Given the description of an element on the screen output the (x, y) to click on. 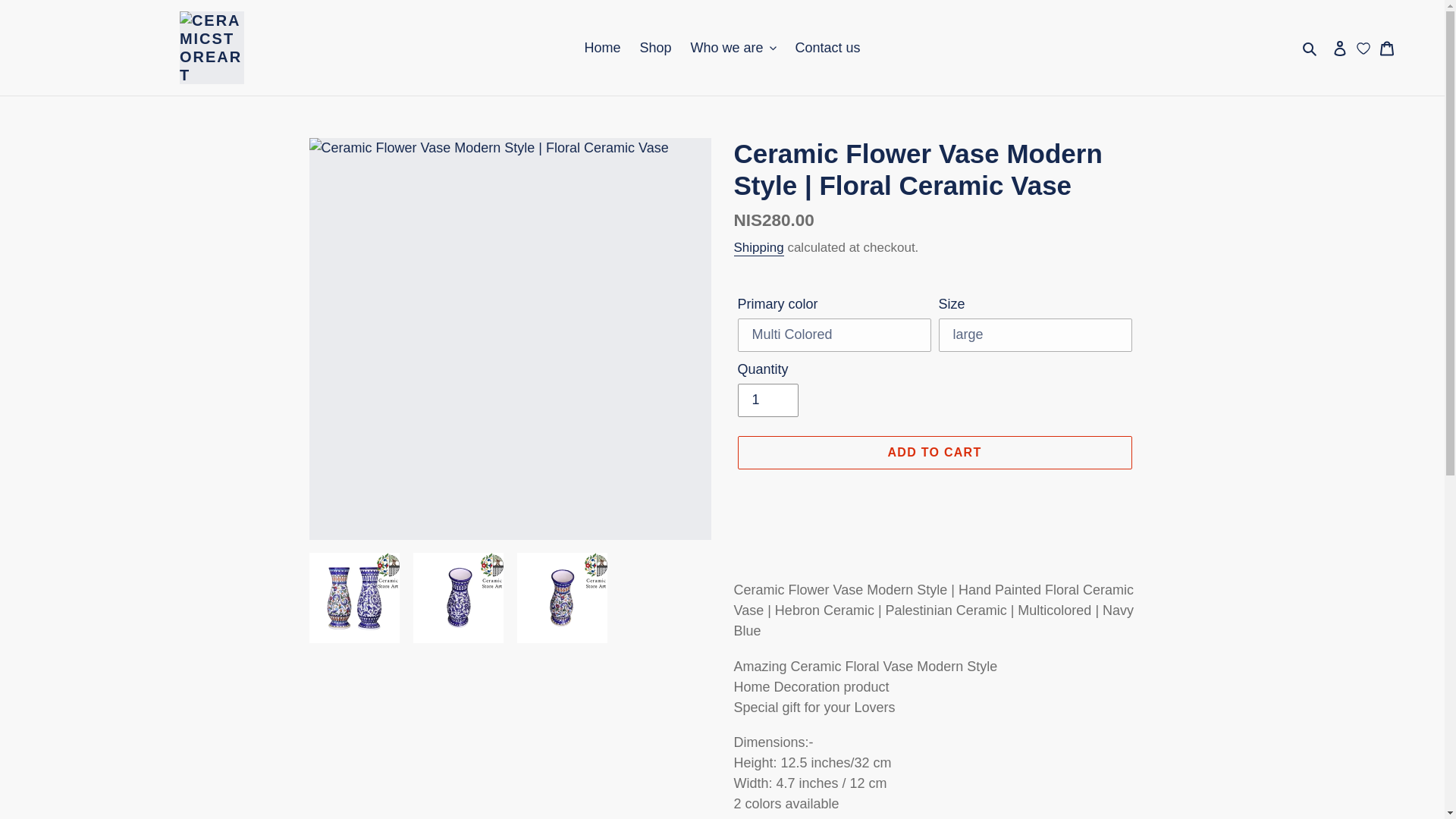
ADD TO CART (933, 452)
Contact us (827, 47)
Cart (1387, 48)
Shop (654, 47)
Home (601, 47)
Log in (1339, 48)
Shipping (758, 248)
Who we are (732, 47)
1 (766, 400)
Search (1310, 47)
